Given the description of an element on the screen output the (x, y) to click on. 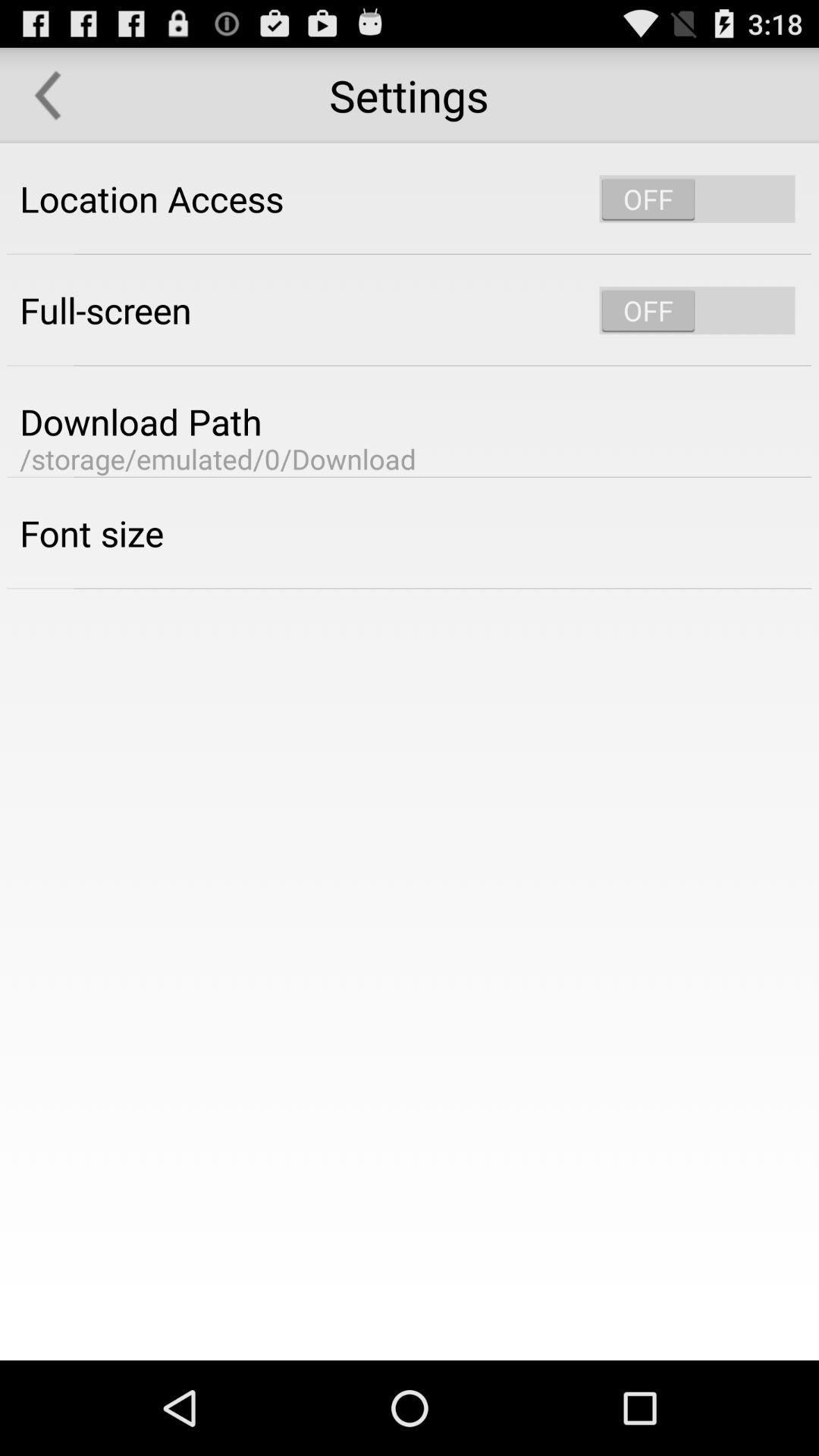
press the icon to the right of the location access (697, 198)
